Given the description of an element on the screen output the (x, y) to click on. 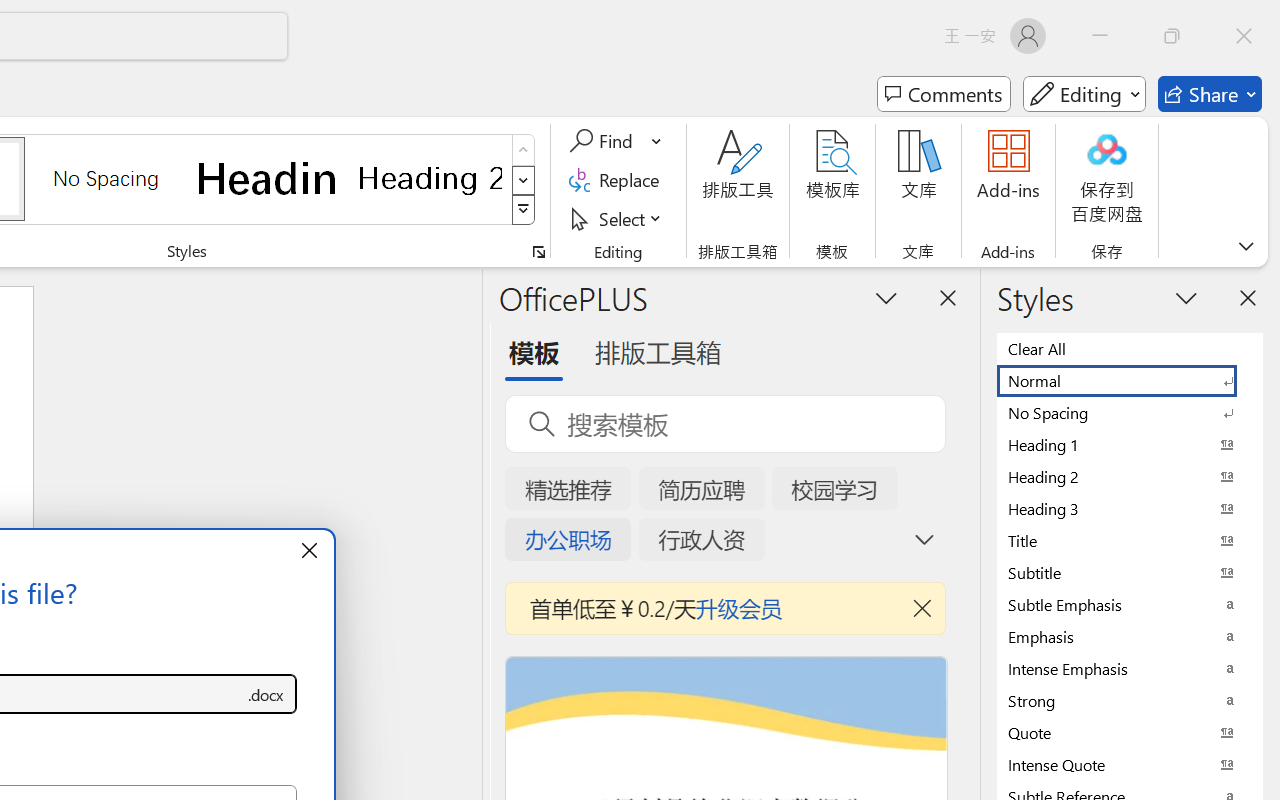
Close (1244, 36)
Intense Emphasis (1130, 668)
More Options (657, 141)
Quote (1130, 732)
Subtle Emphasis (1130, 604)
Minimize (1099, 36)
Find (616, 141)
Normal (1130, 380)
Row up (523, 150)
Comments (943, 94)
